Given the description of an element on the screen output the (x, y) to click on. 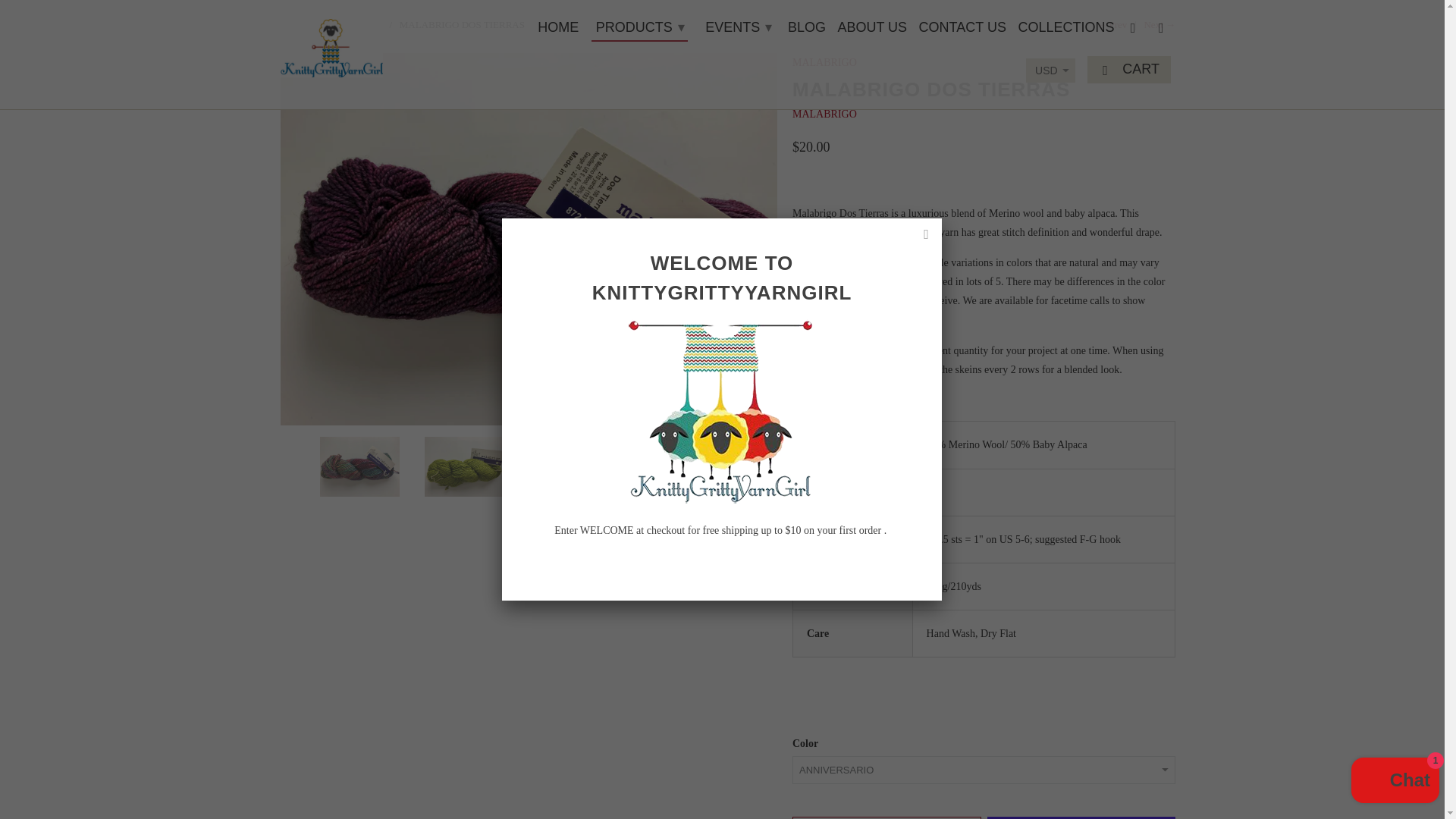
MALABRIGO (824, 113)
Knitty Gritty Yarn Girl (331, 43)
Knitty Gritty Yarn Girl (292, 24)
MALABRIGO (351, 24)
HOME (557, 29)
